Given the description of an element on the screen output the (x, y) to click on. 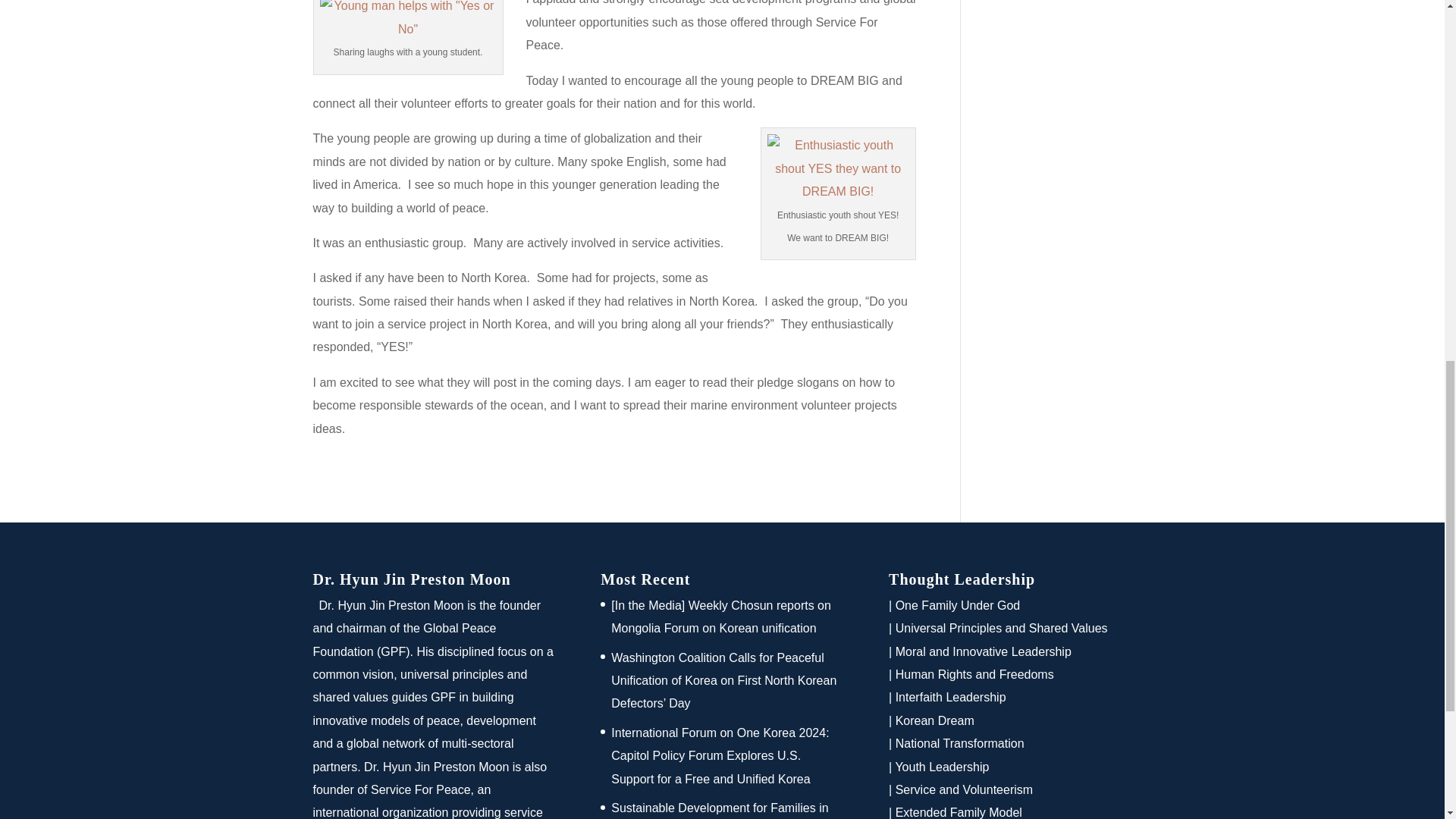
One Family Under God (957, 604)
National Transformation (960, 743)
Sustainable Development for Families in Nepal (719, 810)
Youth Leadership (941, 766)
Universal Principles and Shared Values (1001, 627)
Service and Volunteerism (963, 789)
Human Rights and Freedoms (974, 674)
Interfaith Leadership (950, 697)
